Given the description of an element on the screen output the (x, y) to click on. 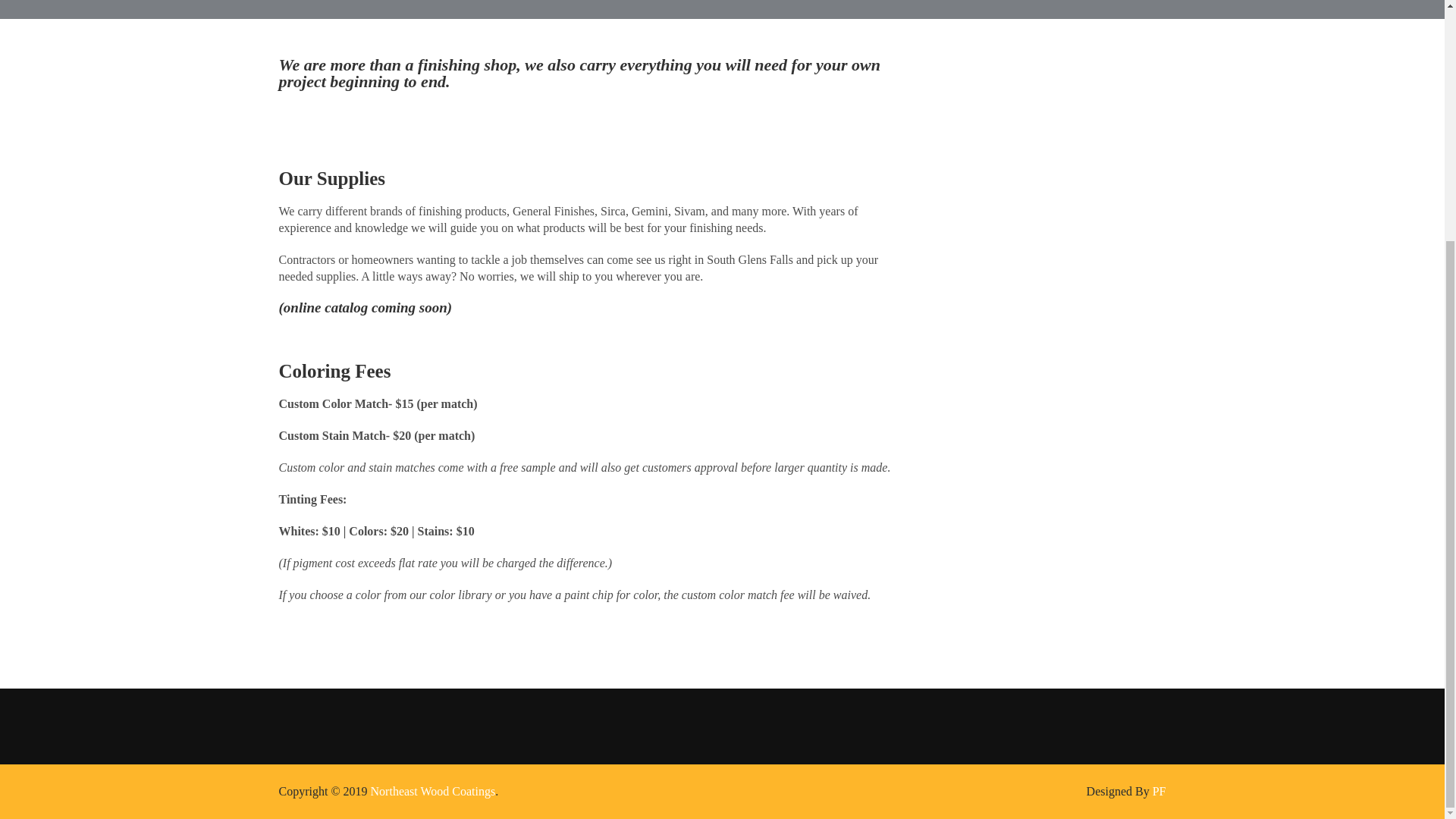
Northeast Wood Coatings (433, 790)
PF (1159, 790)
